Given the description of an element on the screen output the (x, y) to click on. 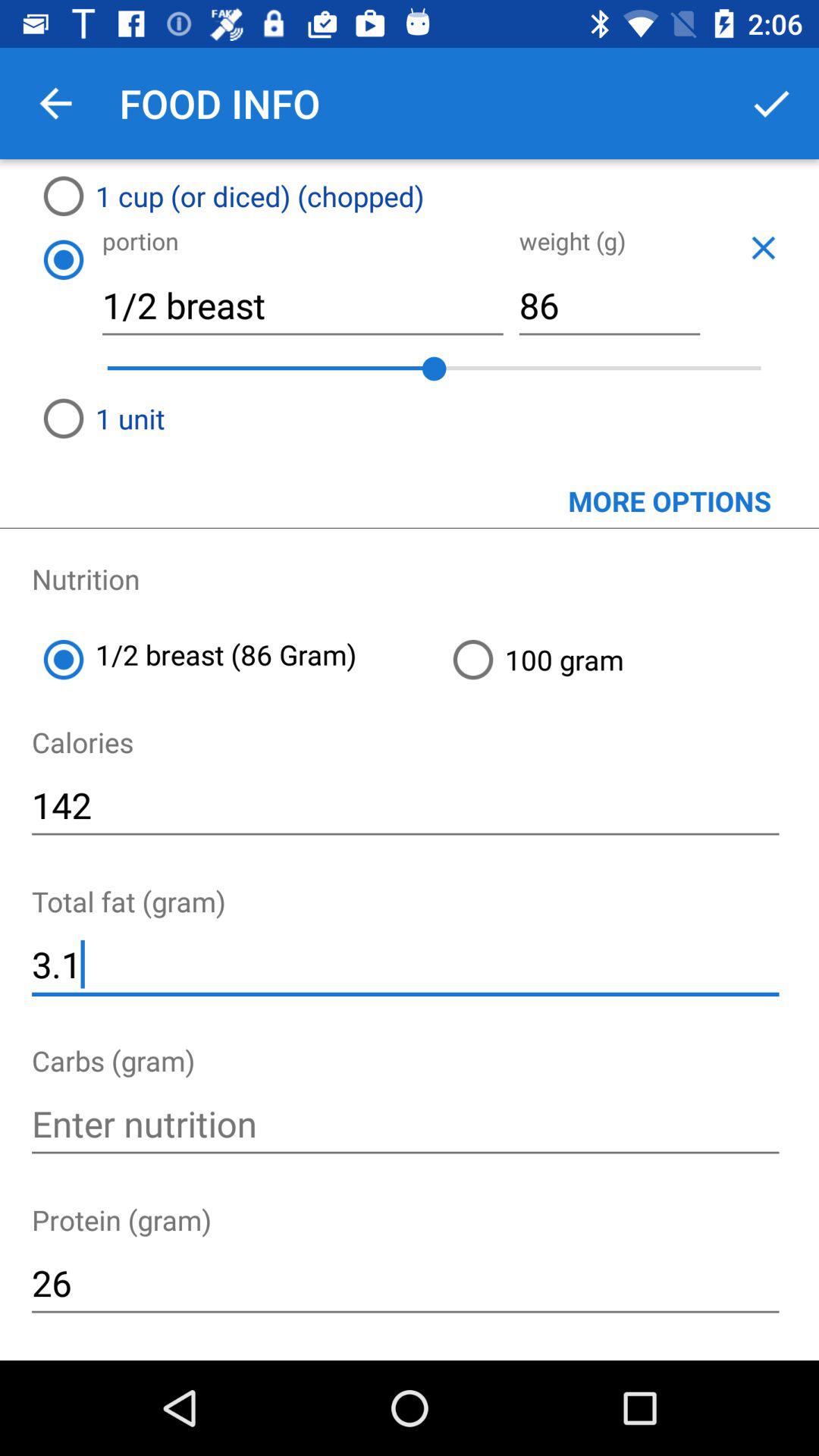
tap the icon above the 1 cup or item (55, 103)
